Given the description of an element on the screen output the (x, y) to click on. 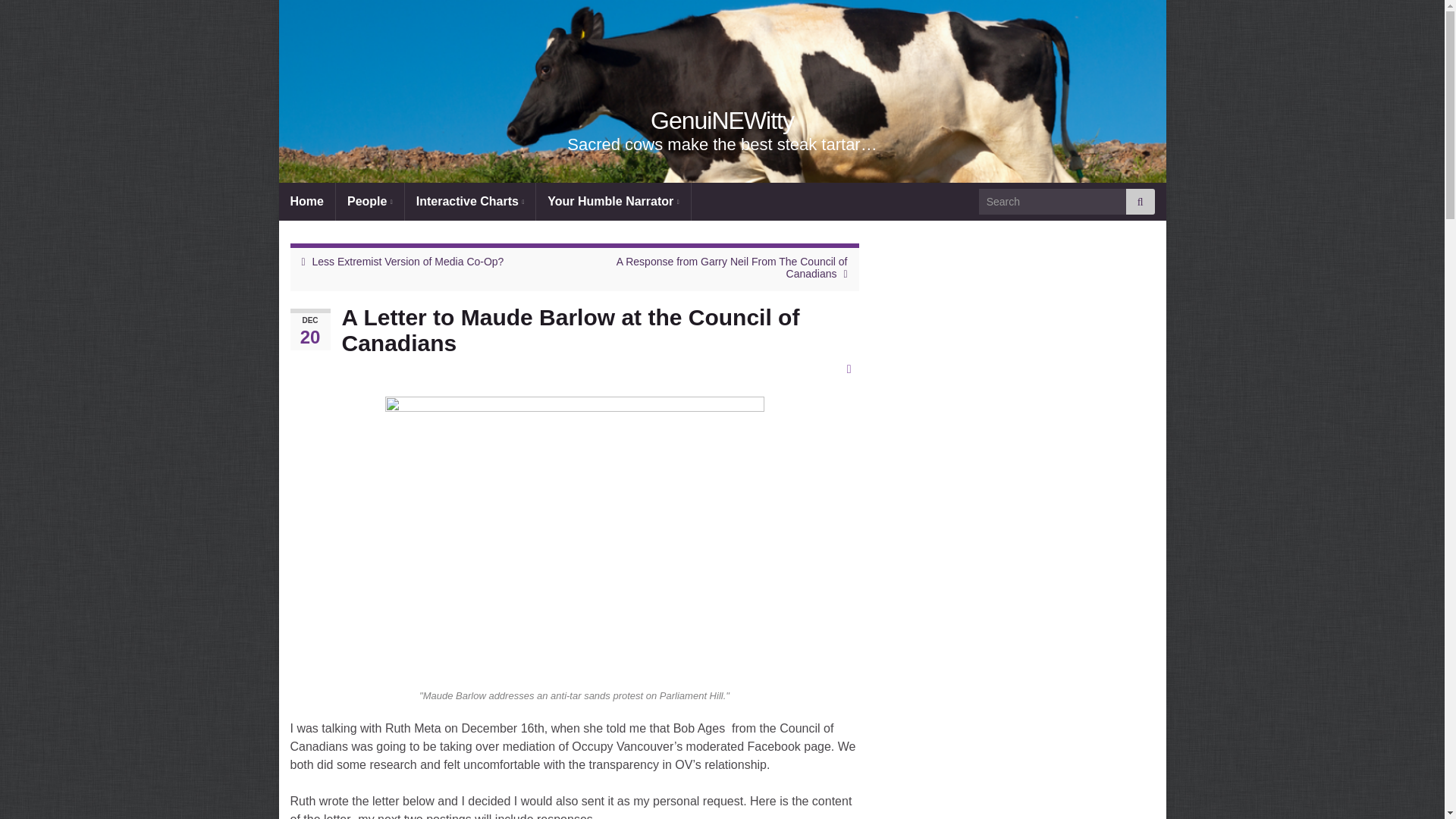
GenuiNEWitty (721, 120)
Home (306, 201)
Go back to the front page (721, 120)
Interactive Charts (469, 201)
People (370, 201)
Your Humble Narrator (612, 201)
Maude-Barlow-addresses-crowd-on-Parliament-Hill (574, 538)
